Given the description of an element on the screen output the (x, y) to click on. 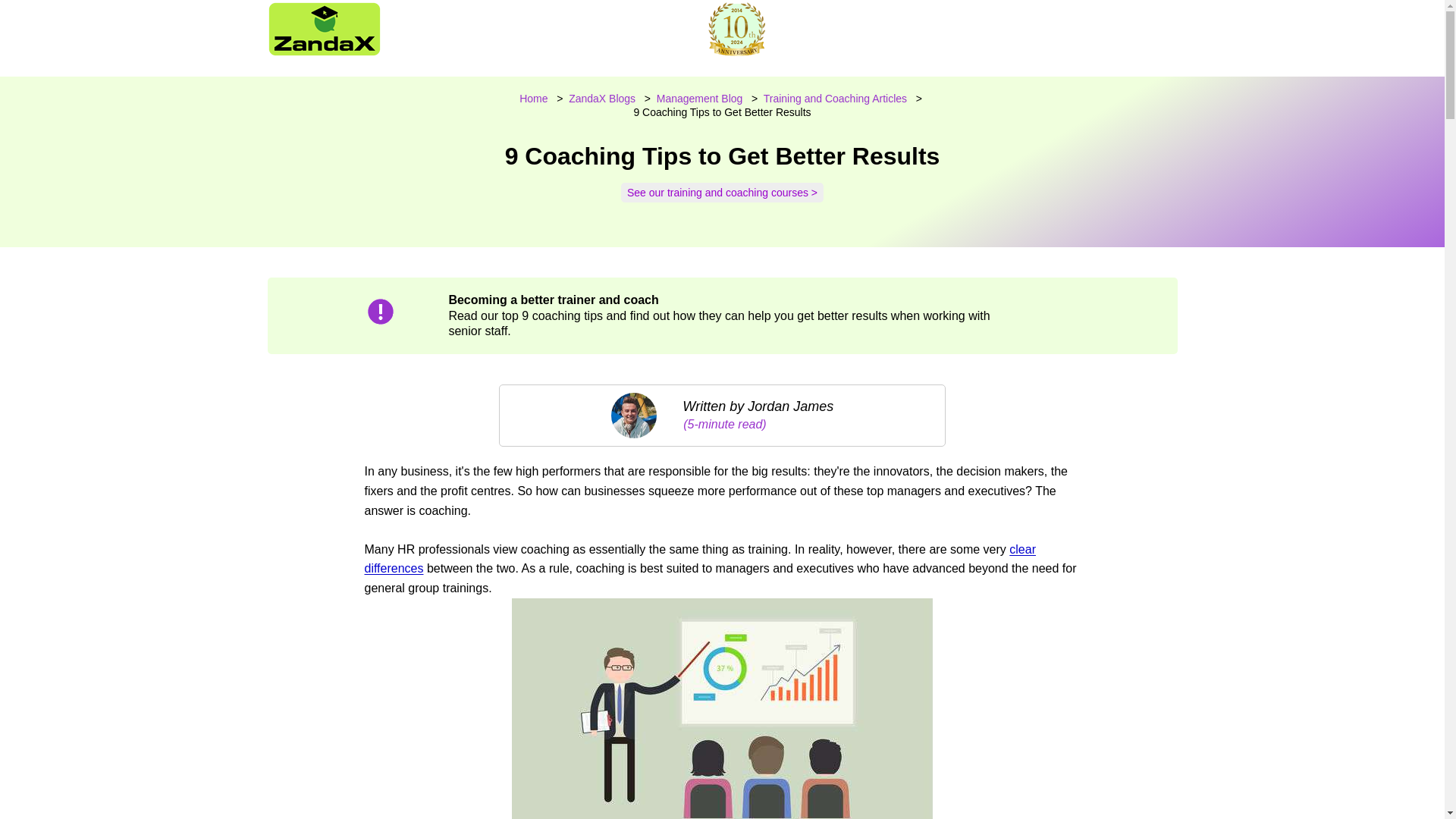
Management Blog (699, 98)
clear differences (699, 558)
Home (533, 98)
Training and Coaching Articles (834, 98)
ZandaX Blogs (601, 98)
